Given the description of an element on the screen output the (x, y) to click on. 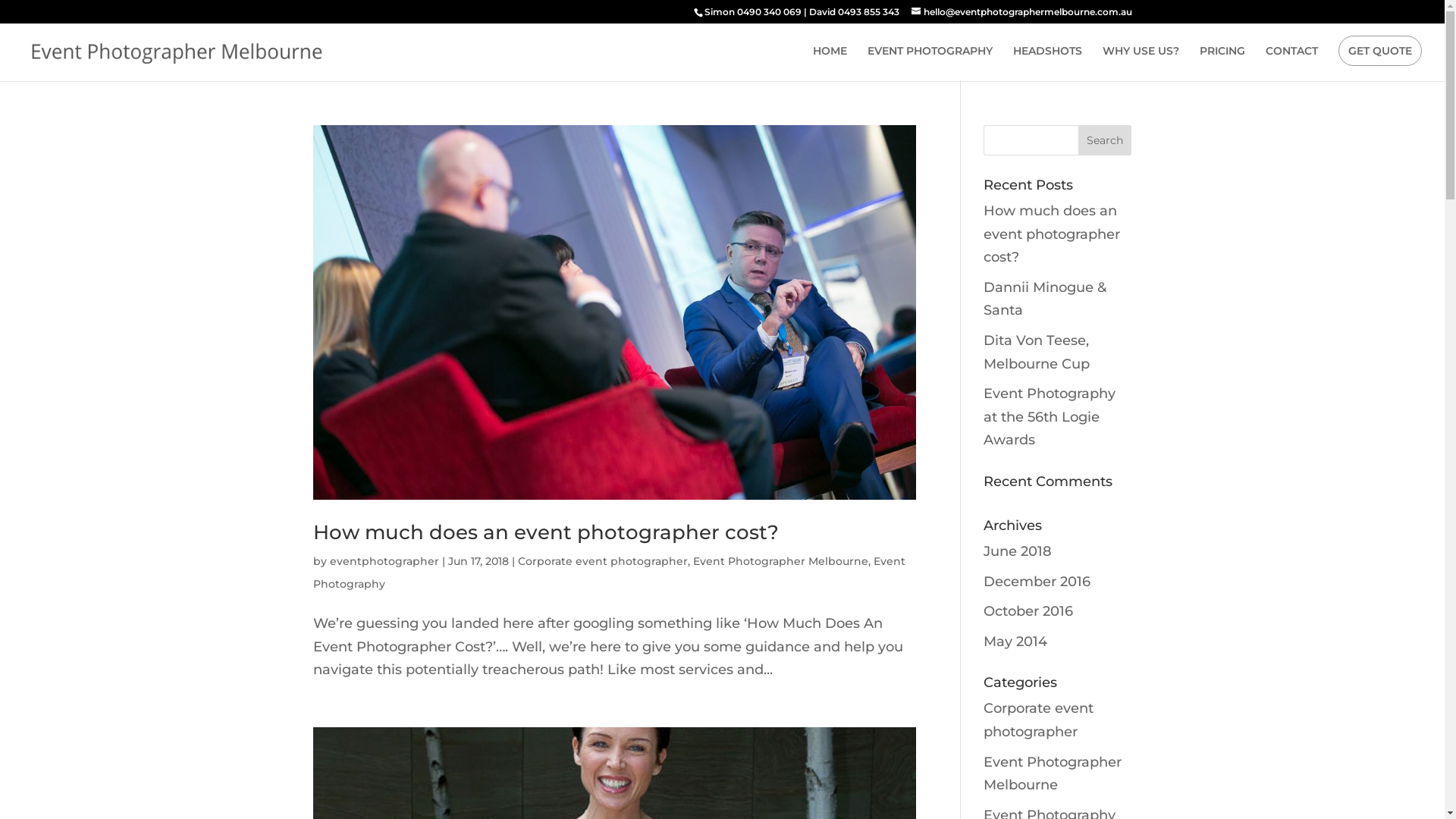
How much does an event photographer cost? Element type: text (1051, 233)
WHY USE US? Element type: text (1140, 63)
Event Photography at the 56th Logie Awards Element type: text (1049, 416)
Dannii Minogue & Santa Element type: text (1044, 299)
Corporate event photographer Element type: text (602, 560)
HEADSHOTS Element type: text (1047, 63)
Event Photographer Melbourne Element type: text (780, 560)
Search Element type: text (1104, 140)
hello@eventphotographermelbourne.com.au Element type: text (1021, 11)
GET QUOTE Element type: text (1379, 50)
June 2018 Element type: text (1017, 550)
CONTACT Element type: text (1291, 63)
eventphotographer Element type: text (383, 560)
May 2014 Element type: text (1015, 641)
Event Photographer Melbourne Element type: text (1052, 773)
Event Photography Element type: text (608, 572)
PRICING Element type: text (1222, 63)
EVENT PHOTOGRAPHY Element type: text (929, 63)
HOME Element type: text (829, 63)
October 2016 Element type: text (1028, 610)
How much does an event photographer cost? Element type: text (545, 532)
Corporate event photographer Element type: text (1038, 719)
Dita Von Teese, Melbourne Cup Element type: text (1036, 352)
December 2016 Element type: text (1036, 581)
